Given the description of an element on the screen output the (x, y) to click on. 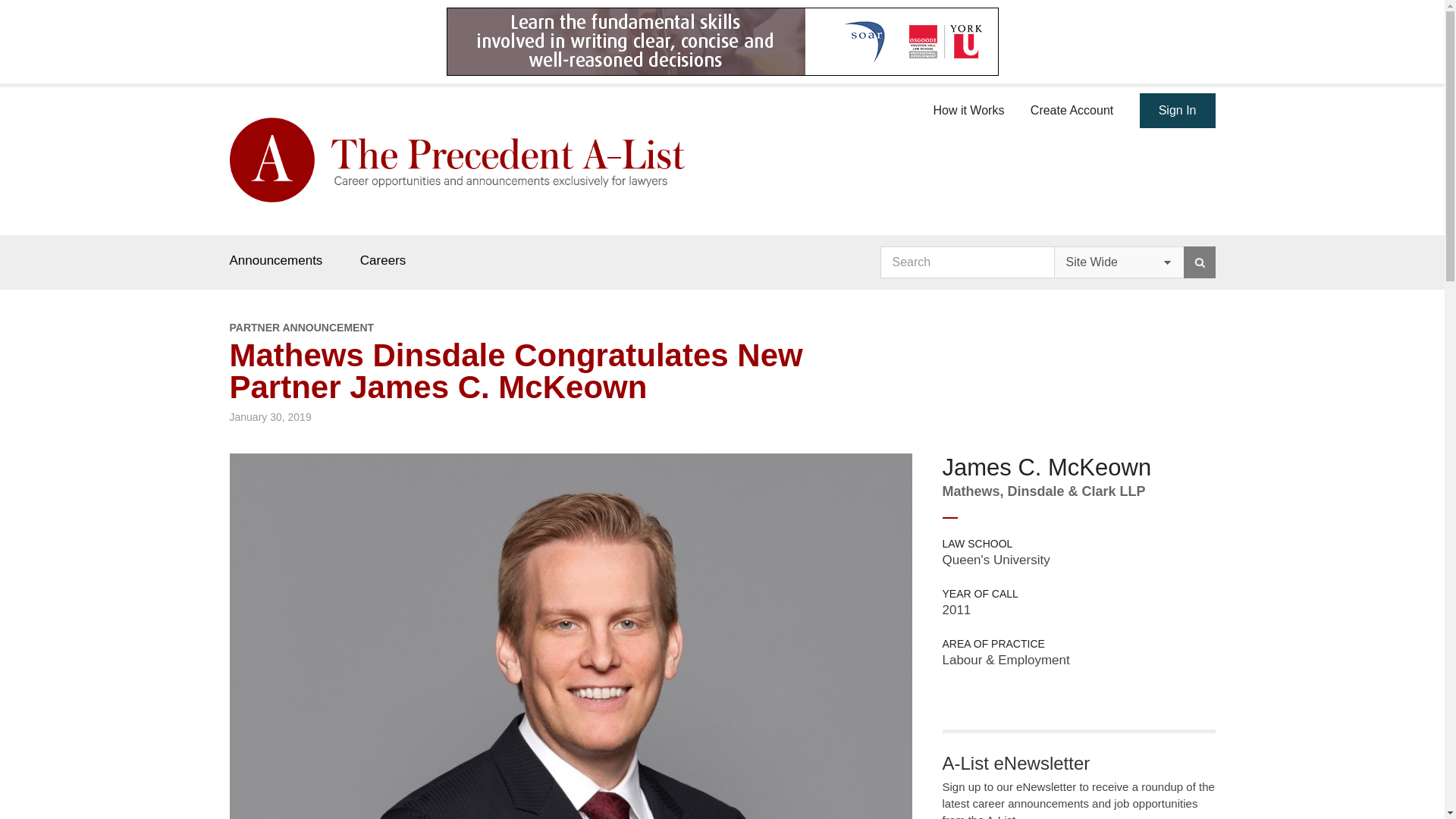
Careers (382, 260)
Announcements (274, 260)
Create Account (1071, 107)
PARTNER ANNOUNCEMENT (569, 327)
How it Works (968, 107)
Sign In (1177, 110)
